Given the description of an element on the screen output the (x, y) to click on. 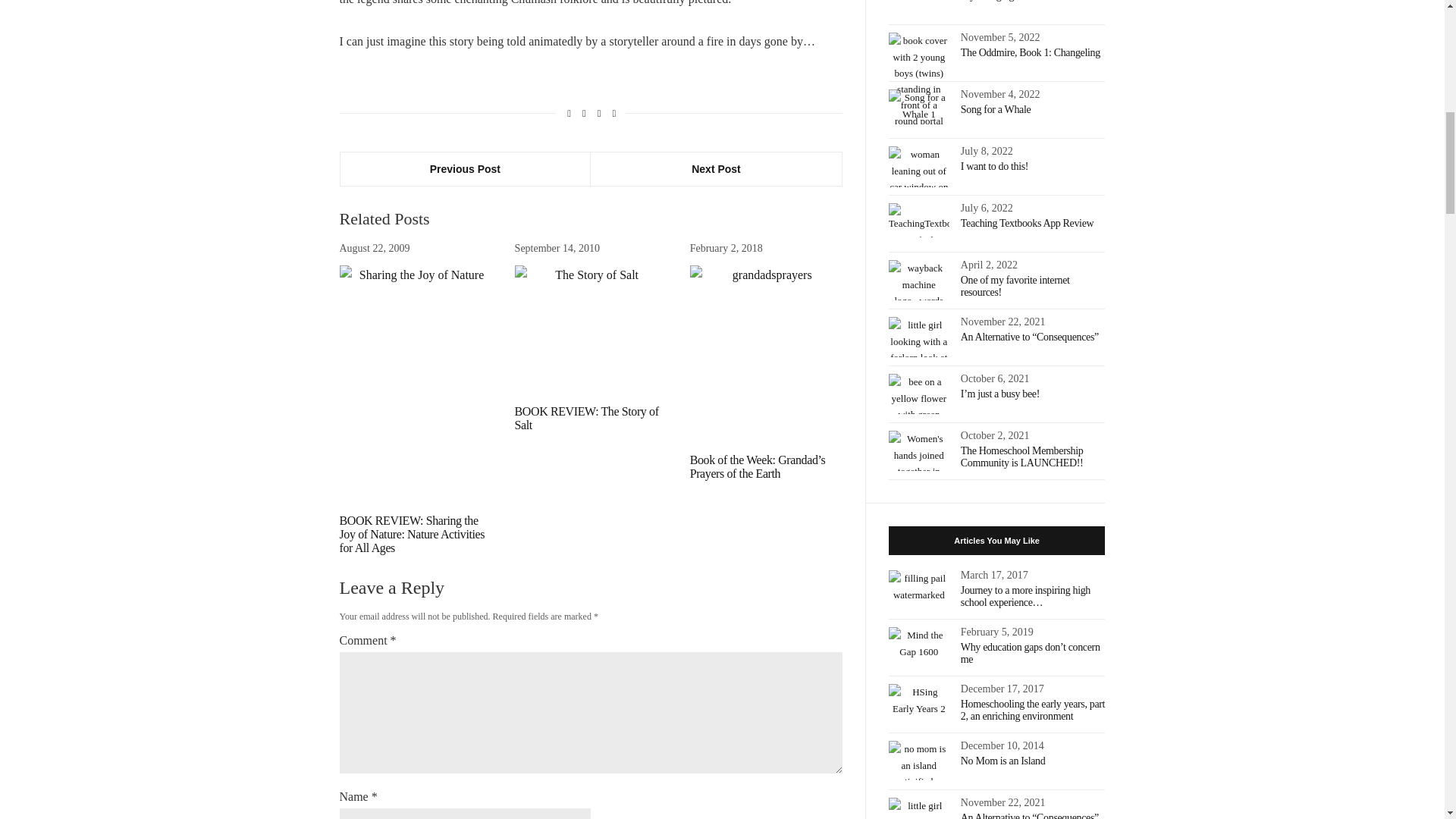
Teaching Textbooks App Review 10 (918, 219)
I'm just a busy bee! 13 (918, 393)
My changing life 6 (918, 7)
BOOK REVIEW: The Story of Salt 3 (590, 329)
One of my favorite internet resources! 11 (918, 279)
I want to do this! 9 (918, 166)
An Alternative to "Consequences" 12 (918, 336)
